Given the description of an element on the screen output the (x, y) to click on. 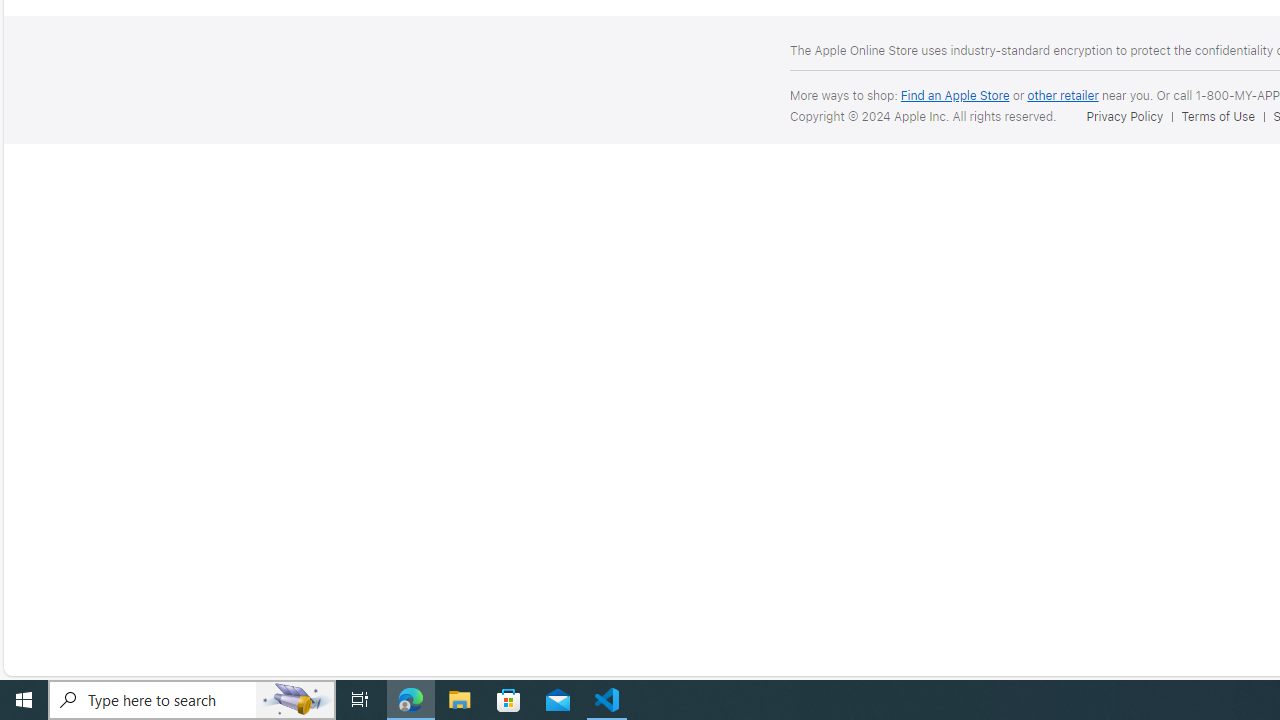
Terms of Use (1222, 116)
Find an Apple Store (954, 94)
Terms of Use (1218, 116)
Privacy Policy (1128, 116)
Privacy Policy (1124, 116)
other retailer (1062, 94)
